Given the description of an element on the screen output the (x, y) to click on. 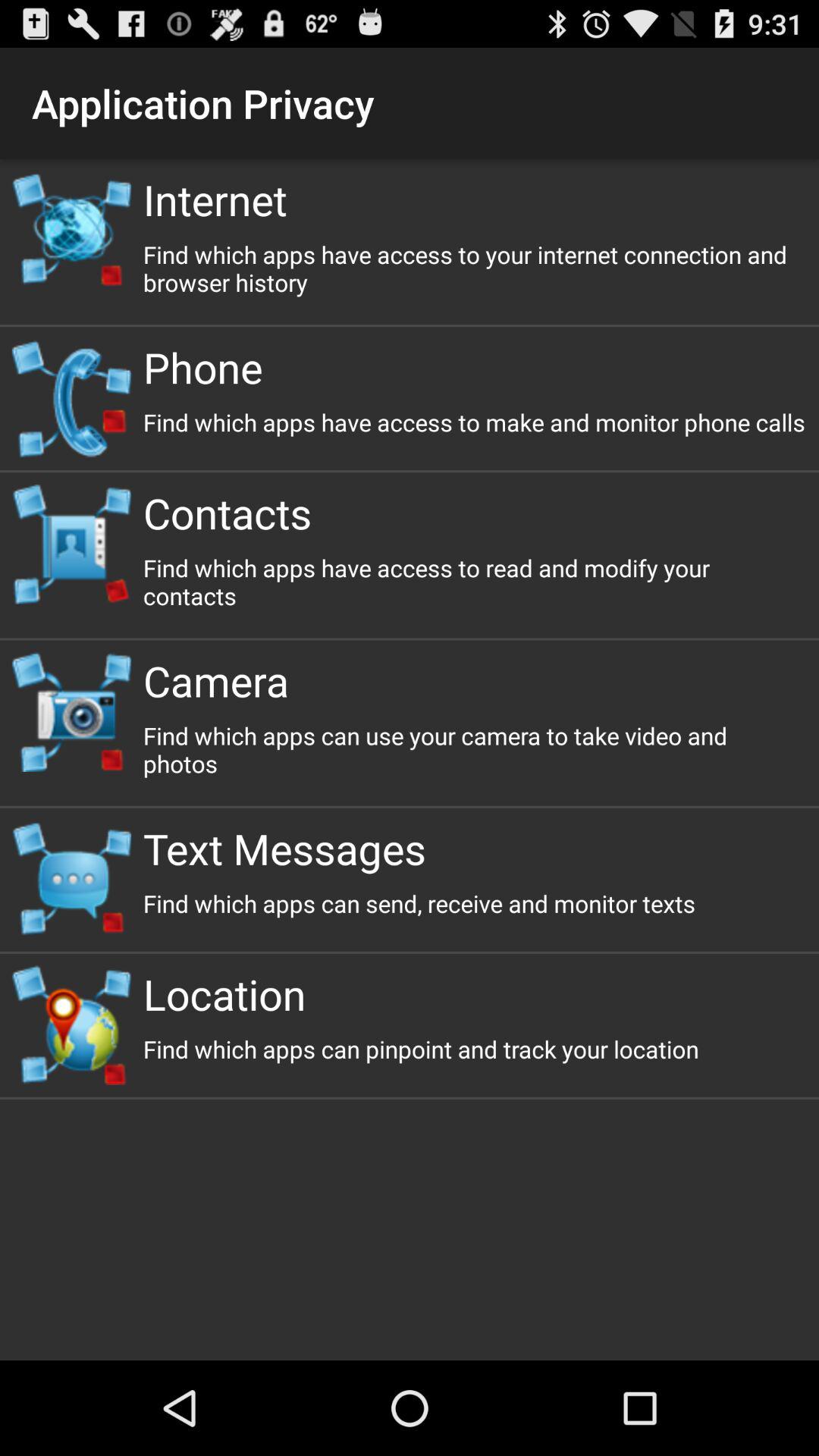
scroll to the text messages app (475, 848)
